Given the description of an element on the screen output the (x, y) to click on. 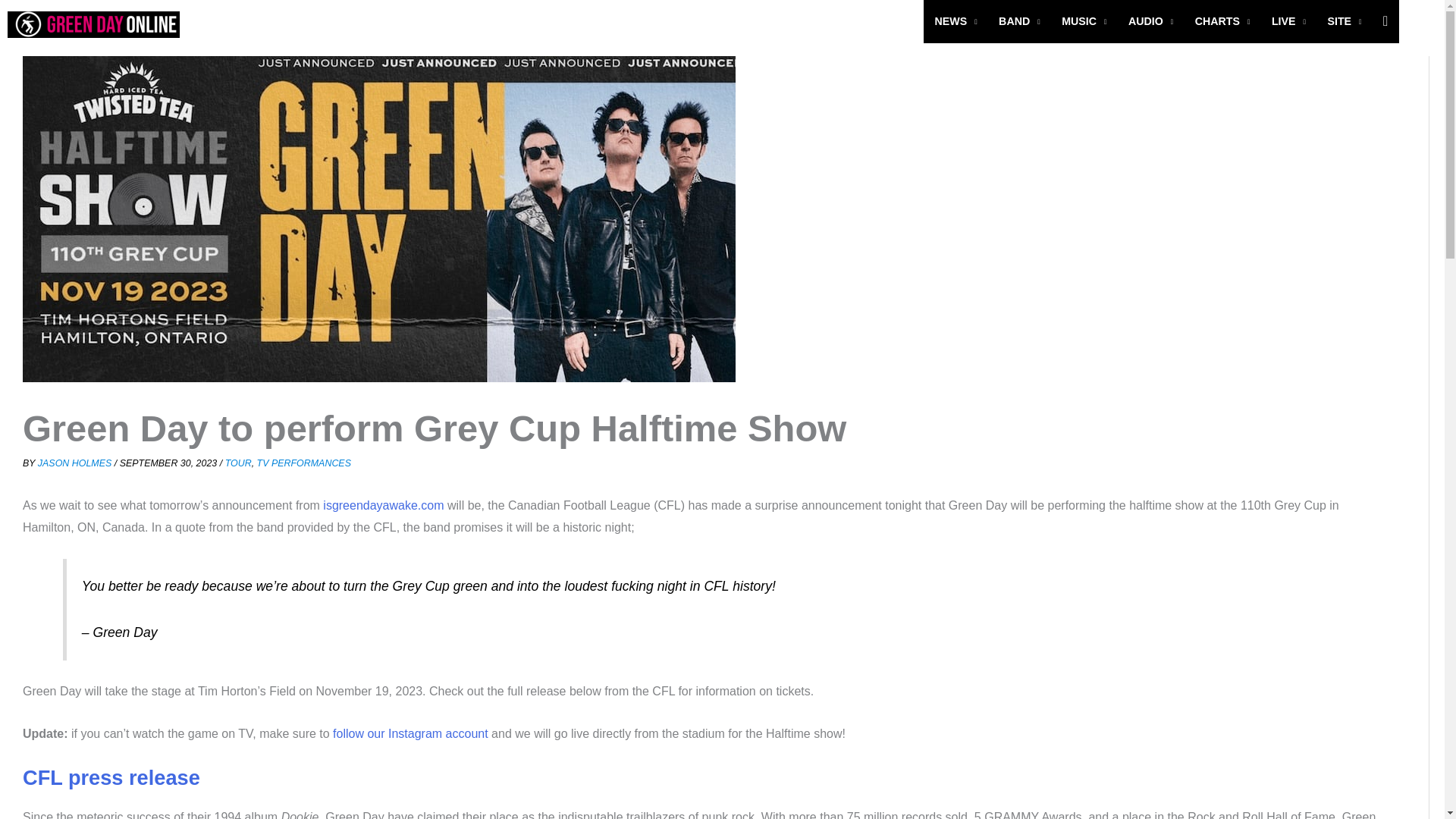
MUSIC (1084, 21)
NEWS (955, 21)
BAND (1019, 21)
View all posts by Jason Holmes (76, 462)
AUDIO (1151, 21)
